Given the description of an element on the screen output the (x, y) to click on. 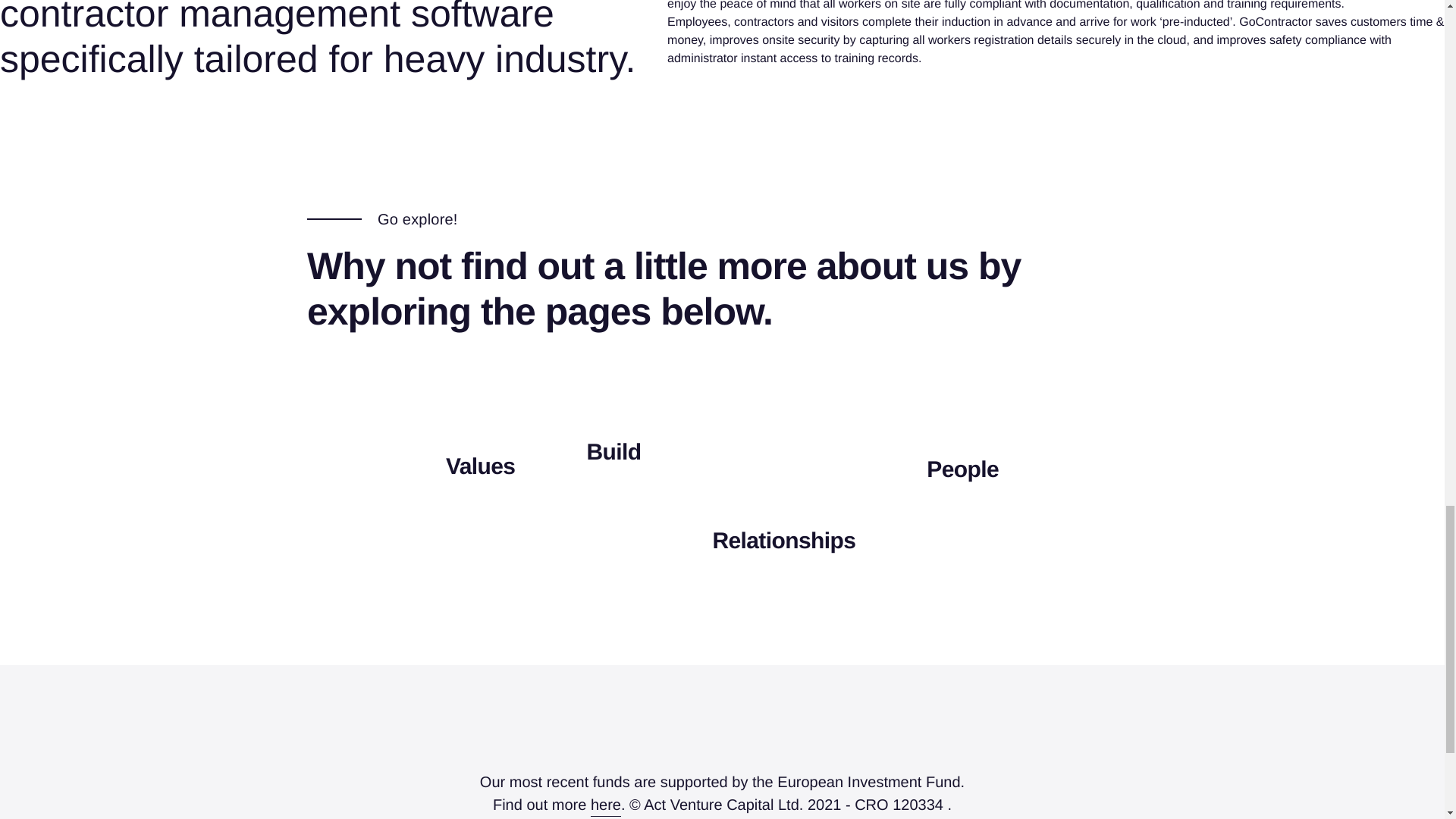
Privacy Policy (719, 818)
here (606, 805)
